Given the description of an element on the screen output the (x, y) to click on. 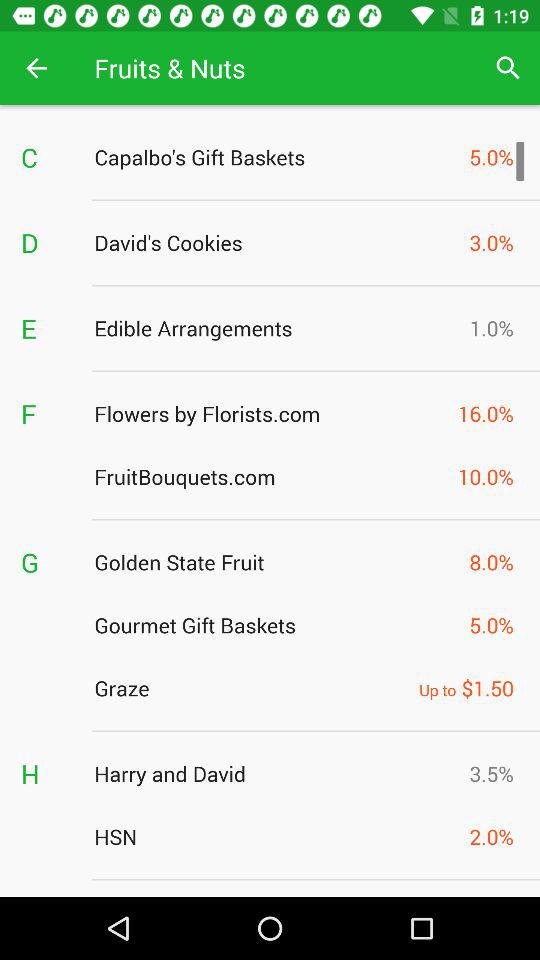
select item next to g (276, 562)
